Given the description of an element on the screen output the (x, y) to click on. 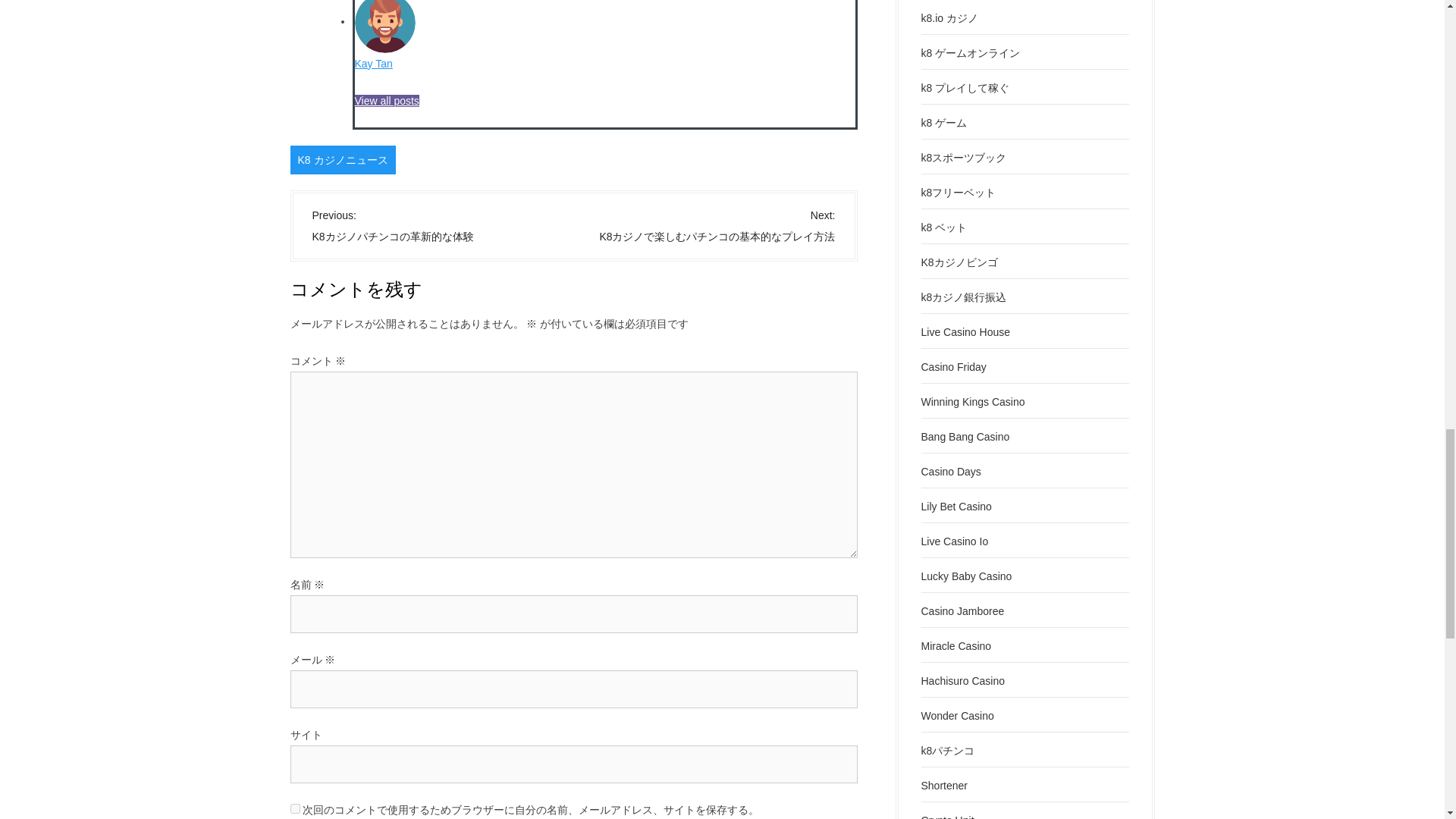
View all posts (387, 100)
yes (294, 808)
View all posts (387, 100)
Kay Tan (374, 63)
Kay Tan (374, 63)
